Given the description of an element on the screen output the (x, y) to click on. 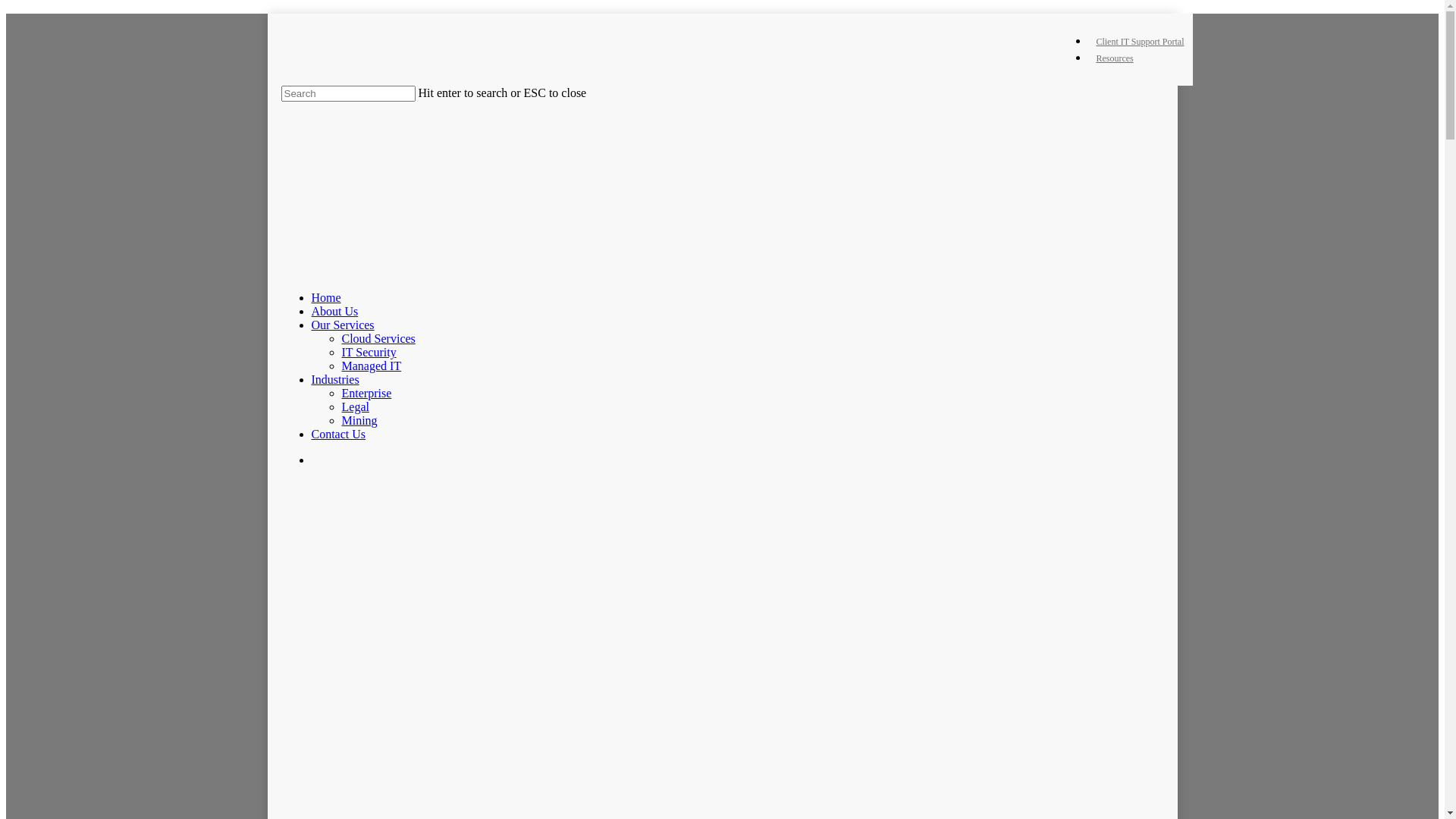
Legal Element type: text (354, 406)
Advertisement Element type: hover (735, 606)
Our Services Element type: text (341, 324)
Home Element type: text (325, 297)
Enterprise Element type: text (366, 392)
Cloud Services Element type: text (377, 338)
Industries Element type: text (334, 379)
IT Security Element type: text (368, 351)
Resources Element type: text (1113, 58)
Mining Element type: text (358, 420)
Client IT Support Portal Element type: text (1139, 41)
About Us Element type: text (333, 310)
Managed IT Element type: text (371, 365)
Contact Us Element type: text (337, 433)
